Given the description of an element on the screen output the (x, y) to click on. 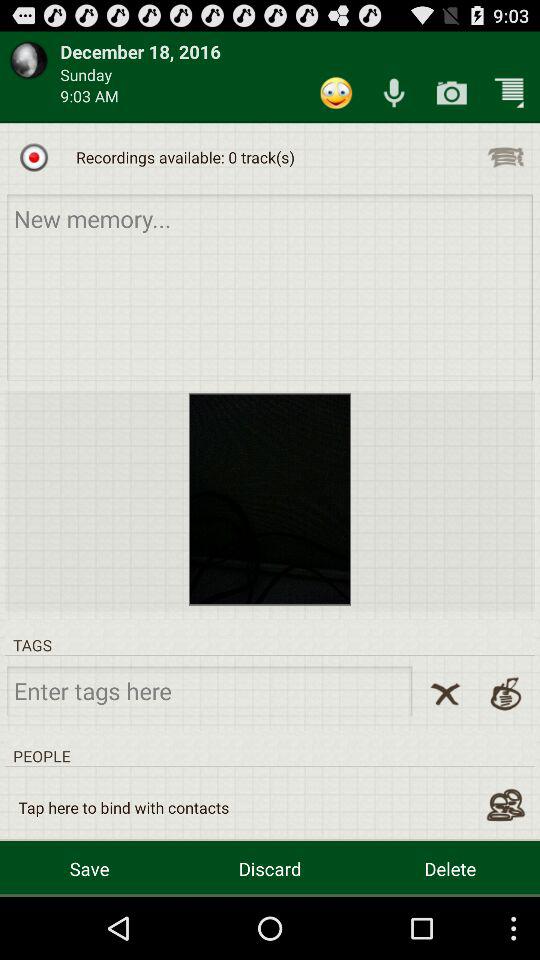
type to describe memory (269, 286)
